Given the description of an element on the screen output the (x, y) to click on. 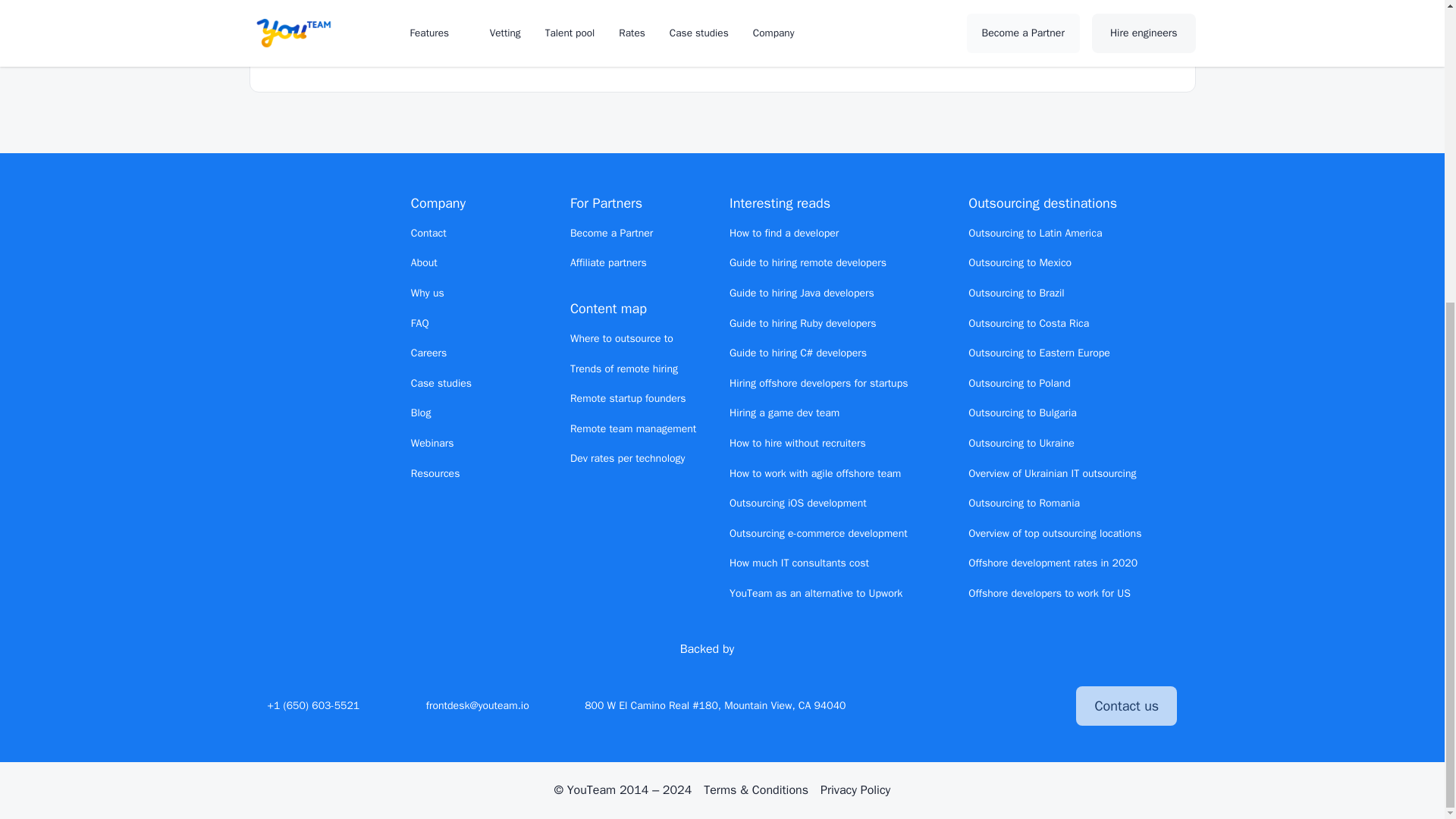
Privacy Policy (855, 790)
Blog (420, 412)
Guide to hiring remote developers (807, 262)
Remote startup founders (627, 398)
Careers (428, 352)
Resources (435, 472)
Webinars (432, 442)
Guide to hiring Java developers (802, 292)
Facebook (991, 705)
LinkedIn (964, 705)
